Given the description of an element on the screen output the (x, y) to click on. 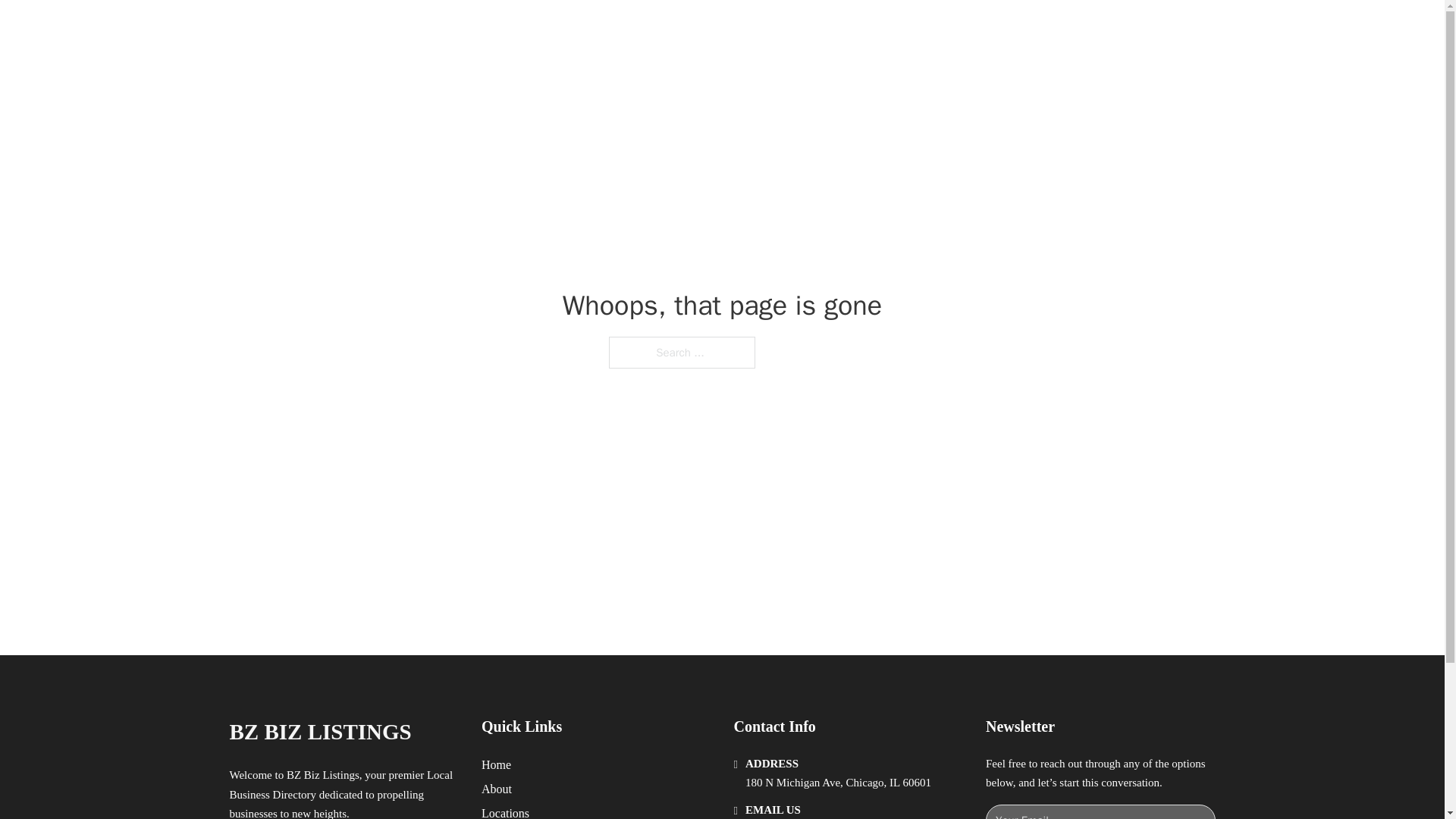
Locations (505, 811)
BZ BIZ LISTINGS (319, 732)
Home (496, 764)
About (496, 788)
BZ BIZ LISTINGS (394, 28)
HOME (919, 29)
LOCATIONS (990, 29)
